Given the description of an element on the screen output the (x, y) to click on. 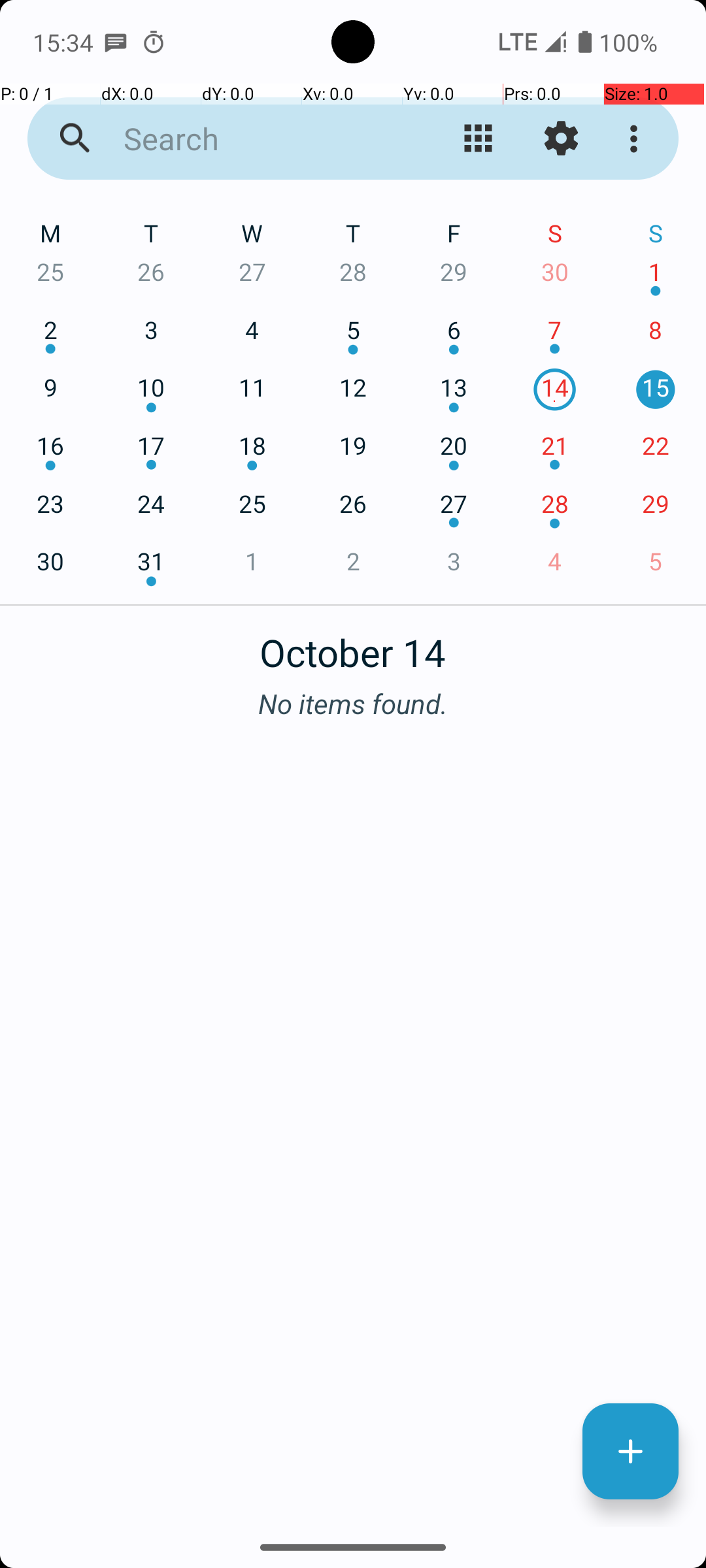
October 14 Element type: android.widget.TextView (352, 644)
SMS Messenger notification: +15785288010 Element type: android.widget.ImageView (115, 41)
